Given the description of an element on the screen output the (x, y) to click on. 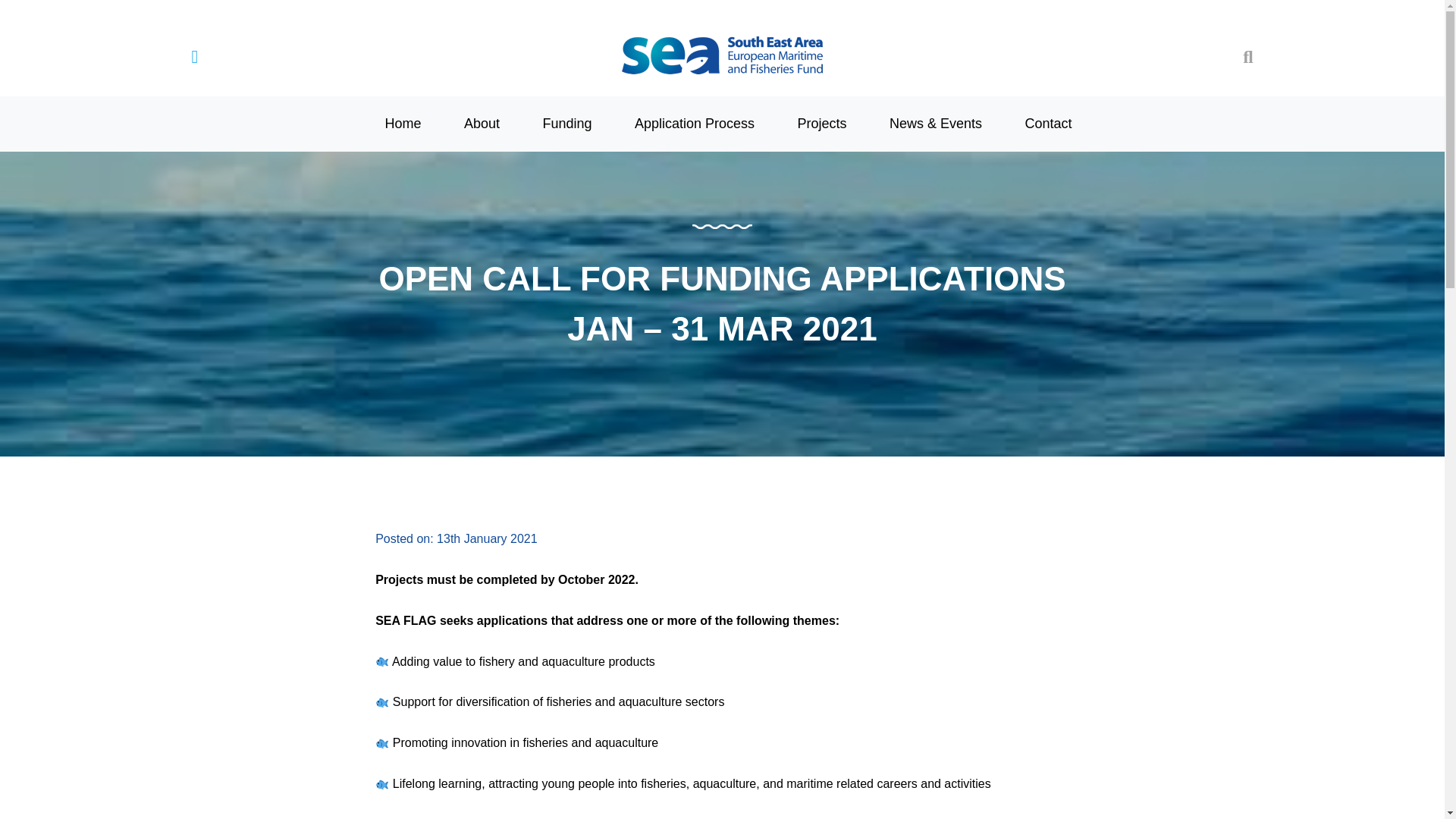
Home (402, 123)
Projects (822, 123)
Contact (1047, 123)
Application Process (694, 123)
Funding (566, 123)
About (481, 123)
